Given the description of an element on the screen output the (x, y) to click on. 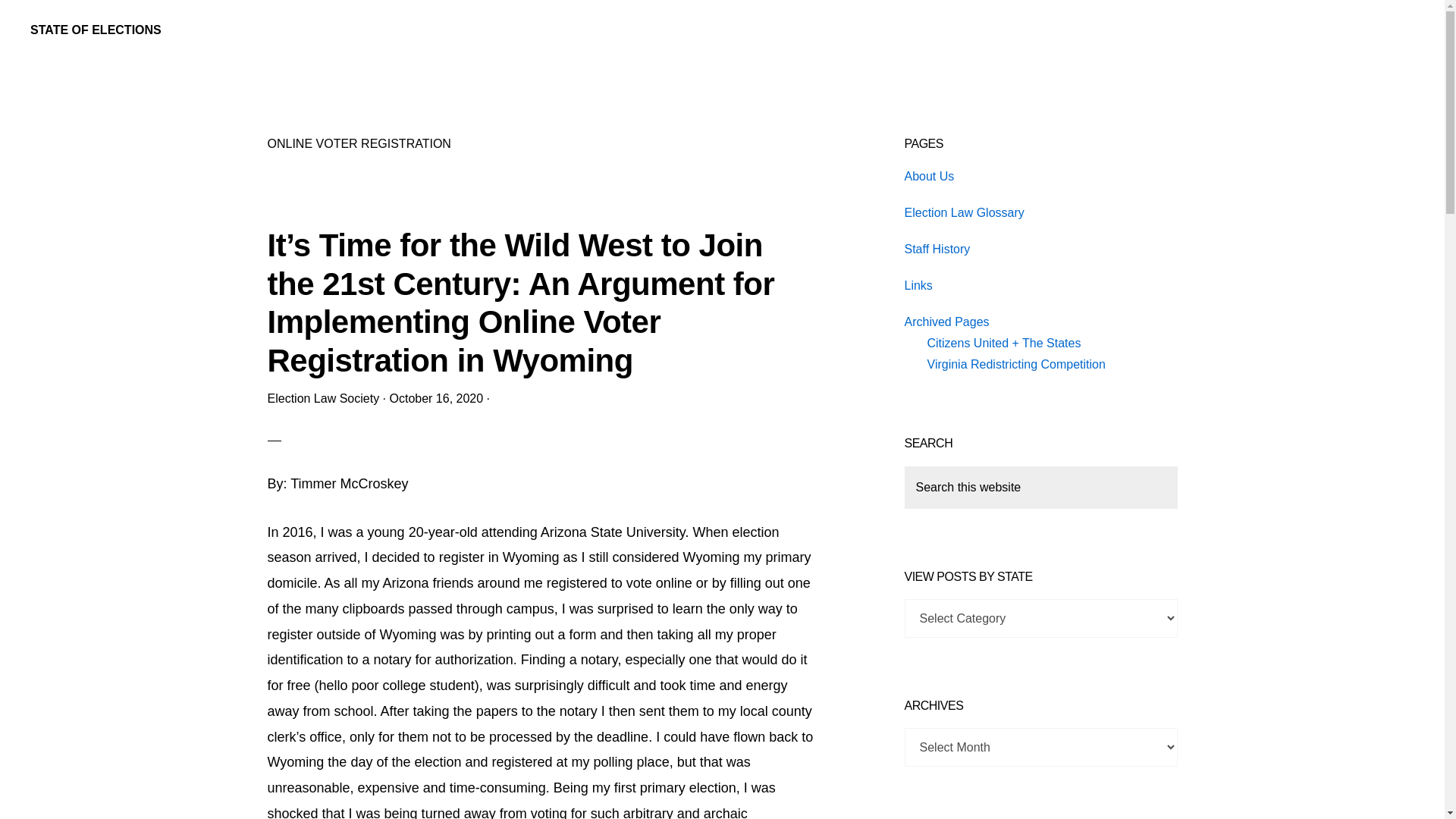
Election Law Glossary (963, 212)
Election Law Society (322, 398)
About Us (928, 175)
STATE OF ELECTIONS (95, 29)
Staff History (936, 248)
Archived Pages (946, 321)
Links (917, 285)
Virginia Redistricting Competition (1015, 364)
